Given the description of an element on the screen output the (x, y) to click on. 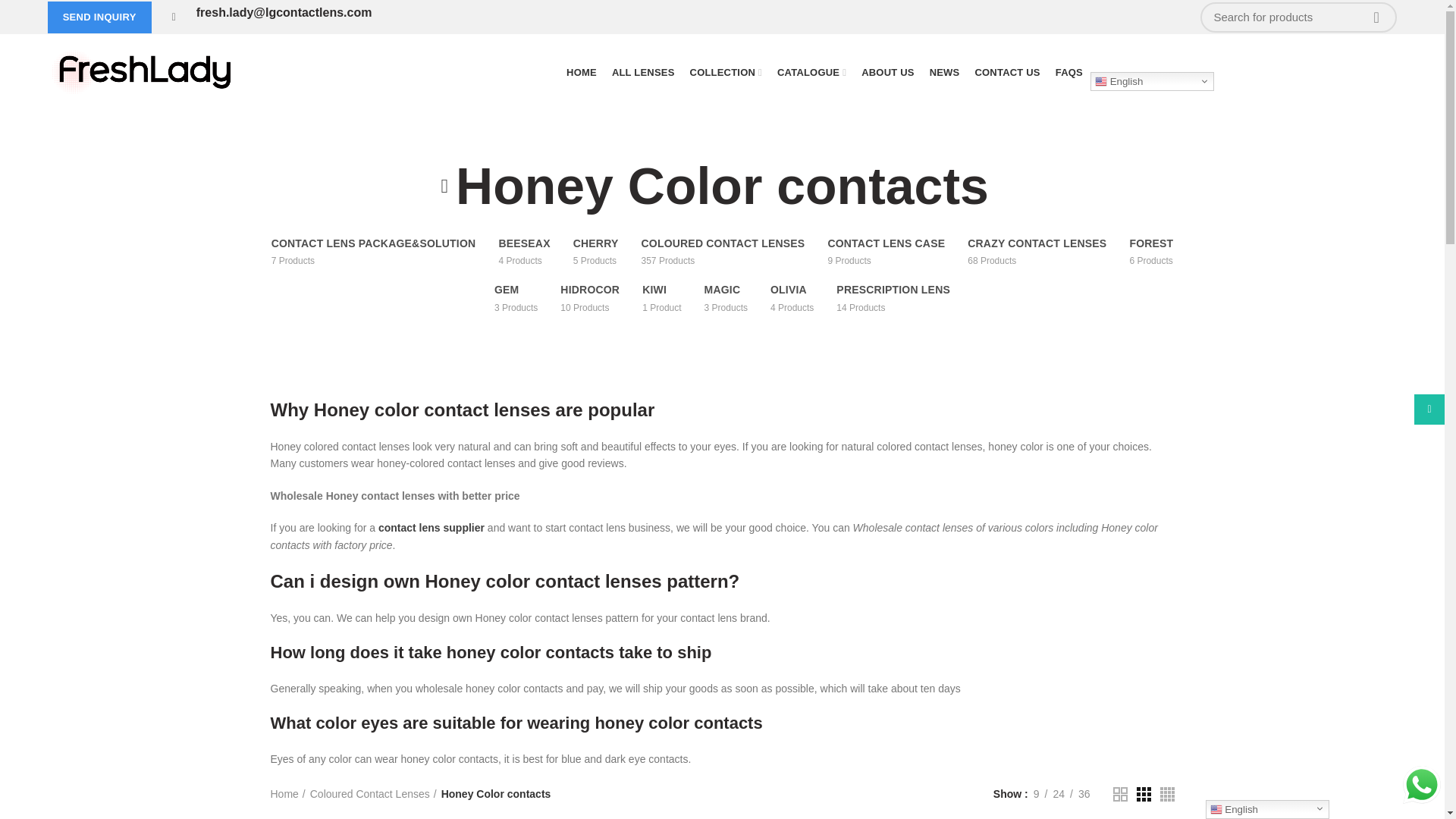
HOME (581, 71)
ABOUT US (887, 71)
COLLECTION (726, 71)
CATALOGUE (811, 71)
SEND INQUIRY (99, 17)
ALL LENSES (643, 71)
SEARCH (1375, 16)
